Given the description of an element on the screen output the (x, y) to click on. 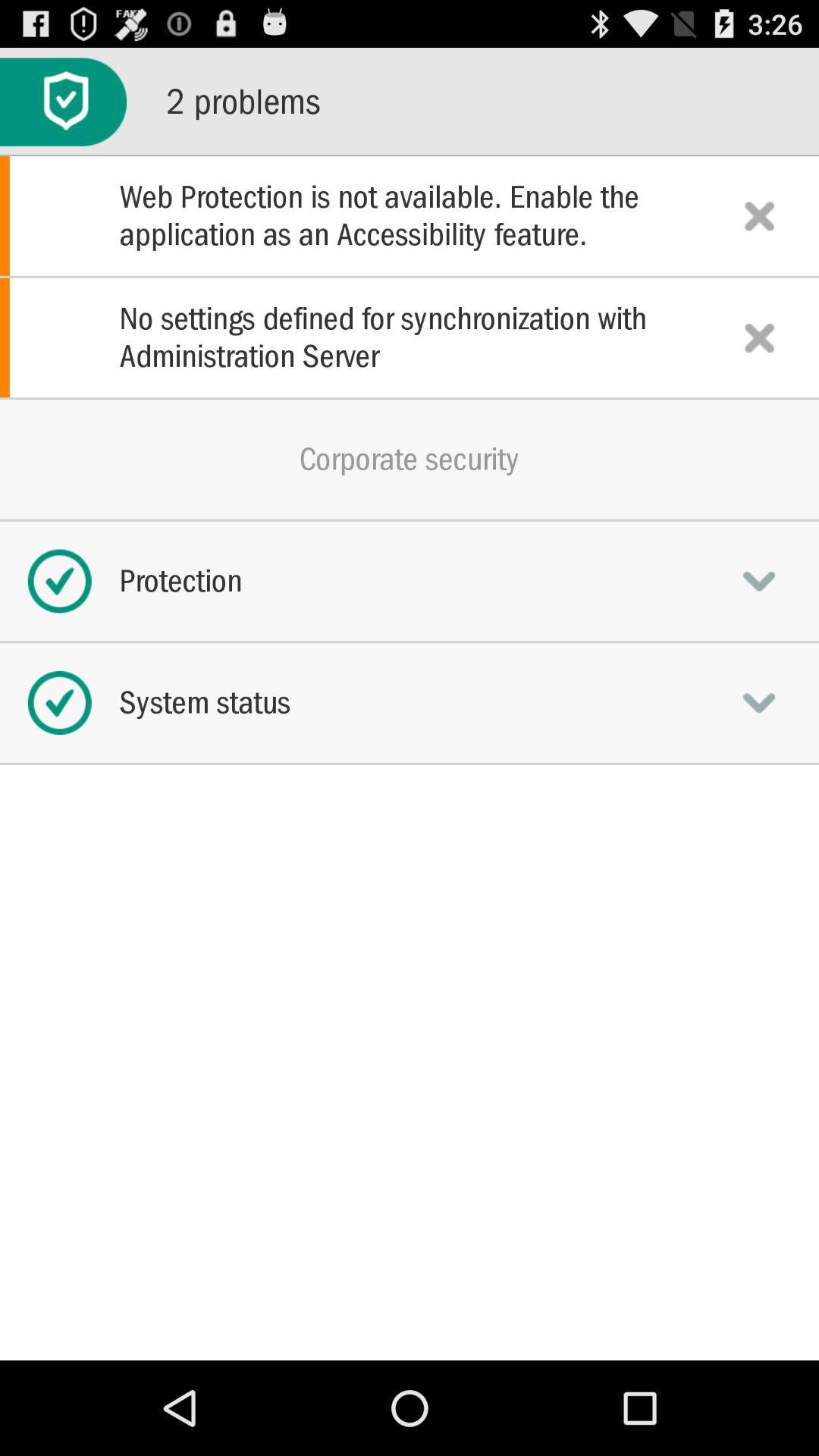
turn off the web protection is icon (409, 215)
